Given the description of an element on the screen output the (x, y) to click on. 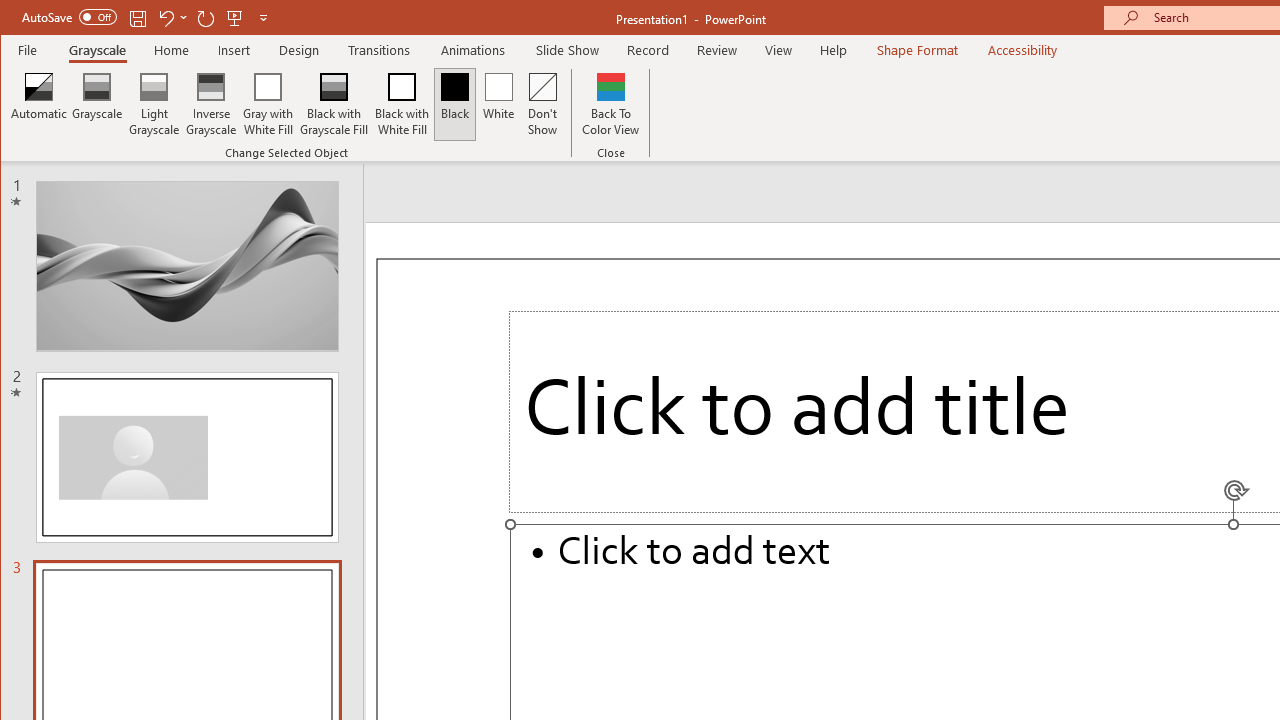
More Options (183, 17)
Slide Show (567, 50)
Home (171, 50)
Undo (171, 17)
White (498, 104)
System (18, 18)
Record (648, 50)
Accessibility (1023, 50)
Gray with White Fill (267, 104)
Don't Show (543, 104)
File Tab (28, 49)
View (779, 50)
Back To Color View (610, 104)
AutoSave (68, 16)
Shape Format (916, 50)
